Given the description of an element on the screen output the (x, y) to click on. 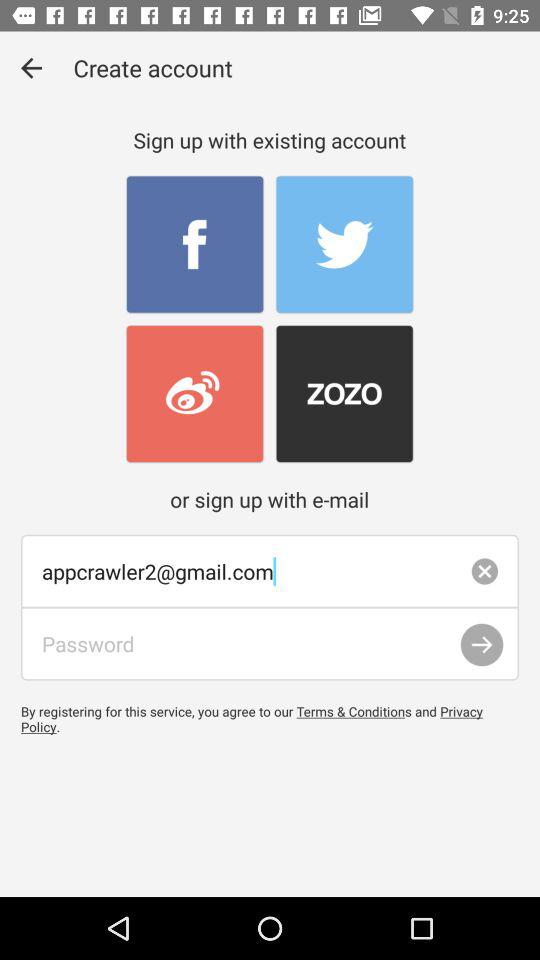
facebook sign-in (194, 244)
